Given the description of an element on the screen output the (x, y) to click on. 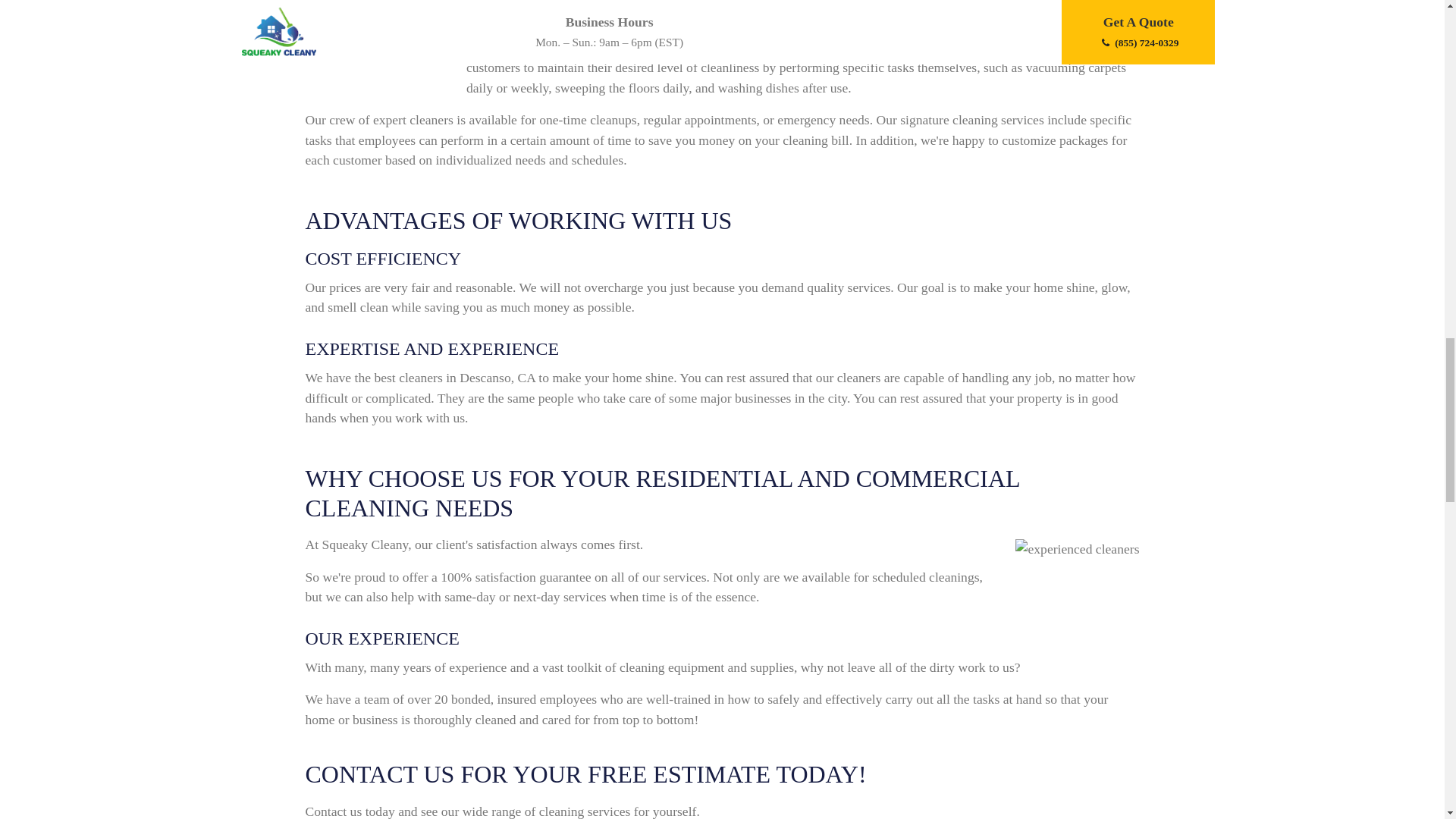
experienced cleaners (1076, 548)
carpet cleaning service (371, 52)
